Given the description of an element on the screen output the (x, y) to click on. 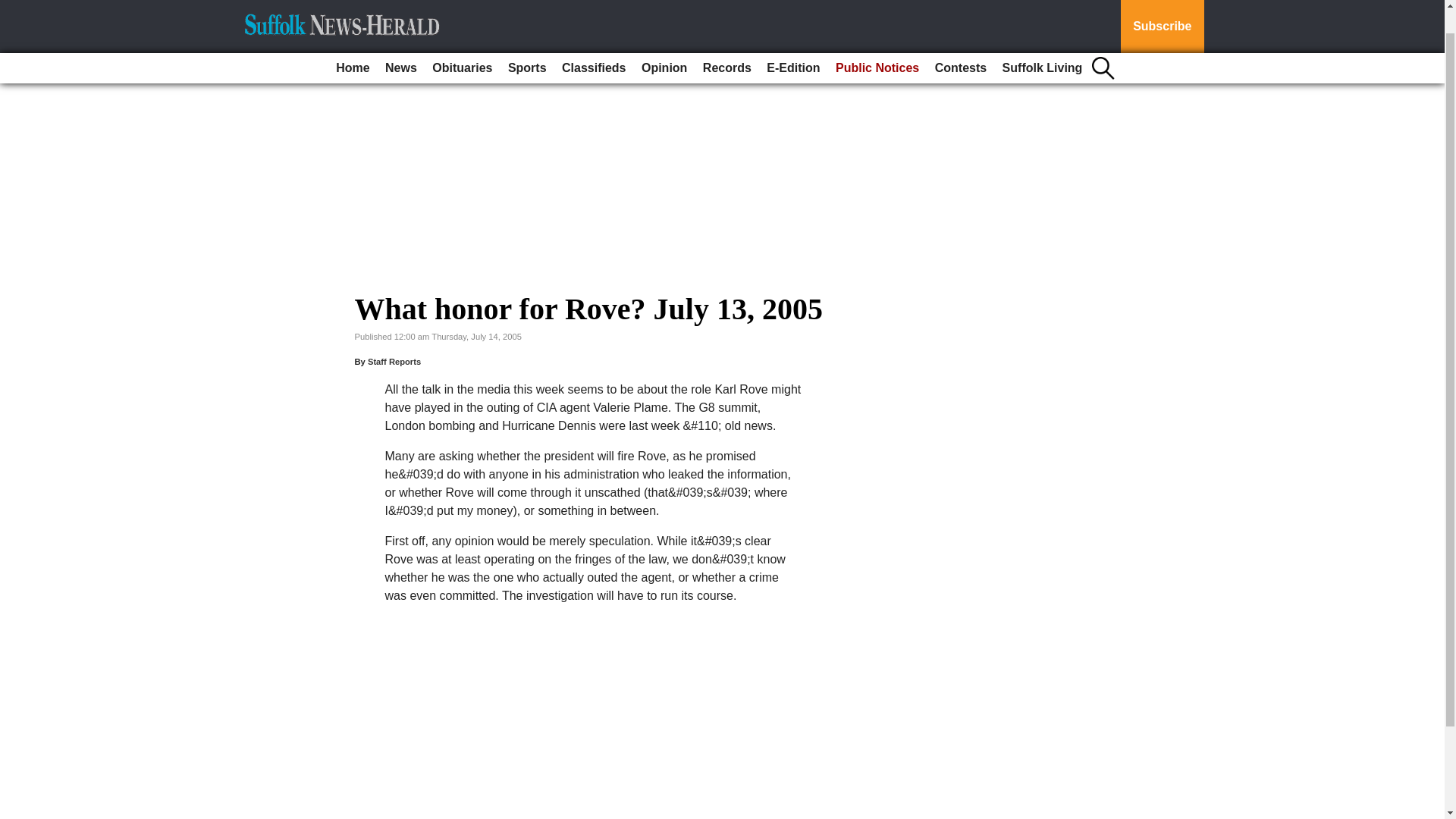
Sports (527, 41)
Home (352, 41)
Opinion (663, 41)
Suffolk Living (1042, 41)
Subscribe (1162, 13)
Obituaries (461, 41)
Classifieds (593, 41)
E-Edition (792, 41)
Public Notices (876, 41)
Staff Reports (394, 361)
